Given the description of an element on the screen output the (x, y) to click on. 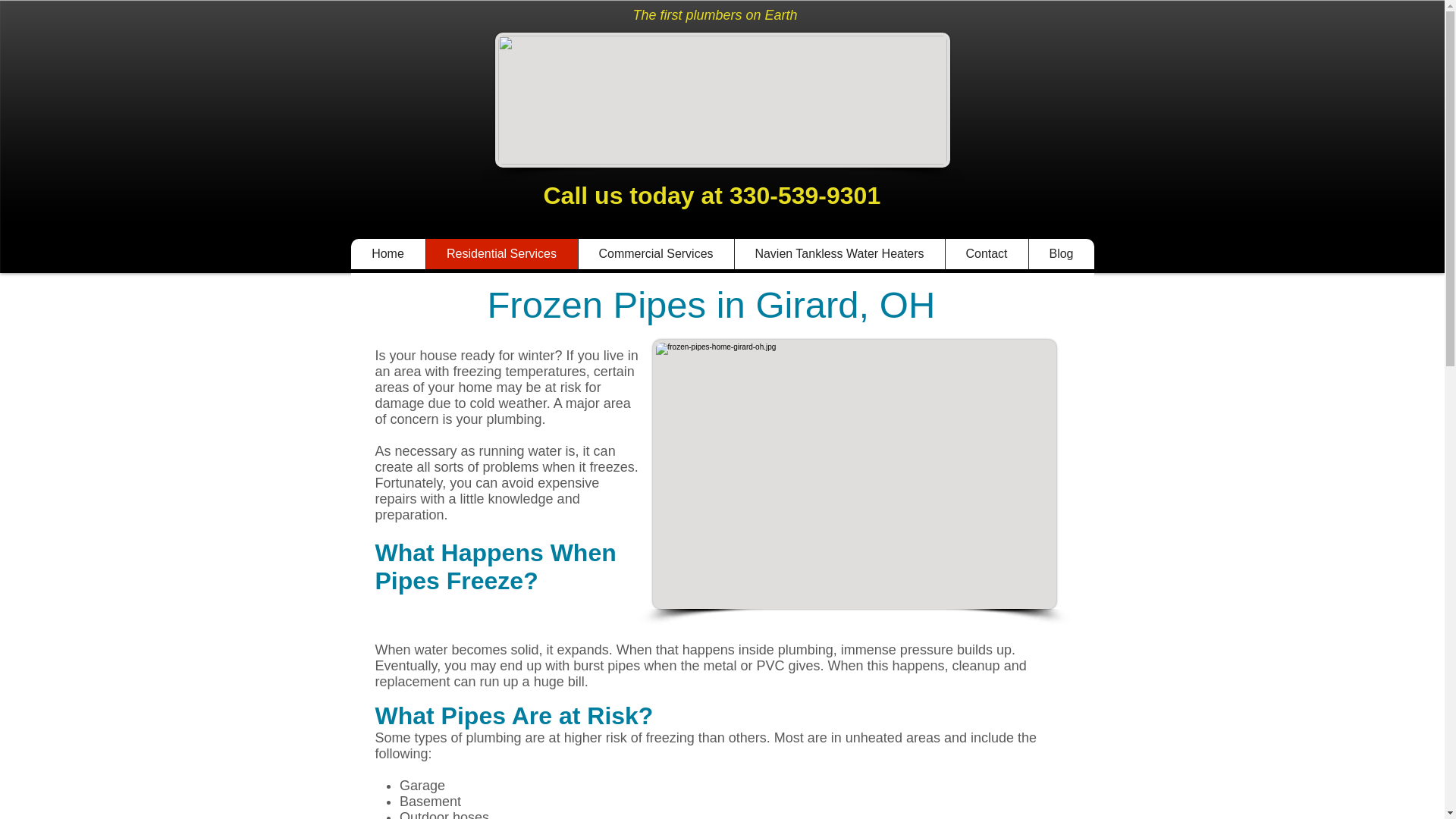
Navien Tankless Water Heaters (838, 254)
Commercial Services (655, 254)
Contact (985, 254)
Blog (1060, 254)
Home (387, 254)
Residential Services (500, 254)
